Given the description of an element on the screen output the (x, y) to click on. 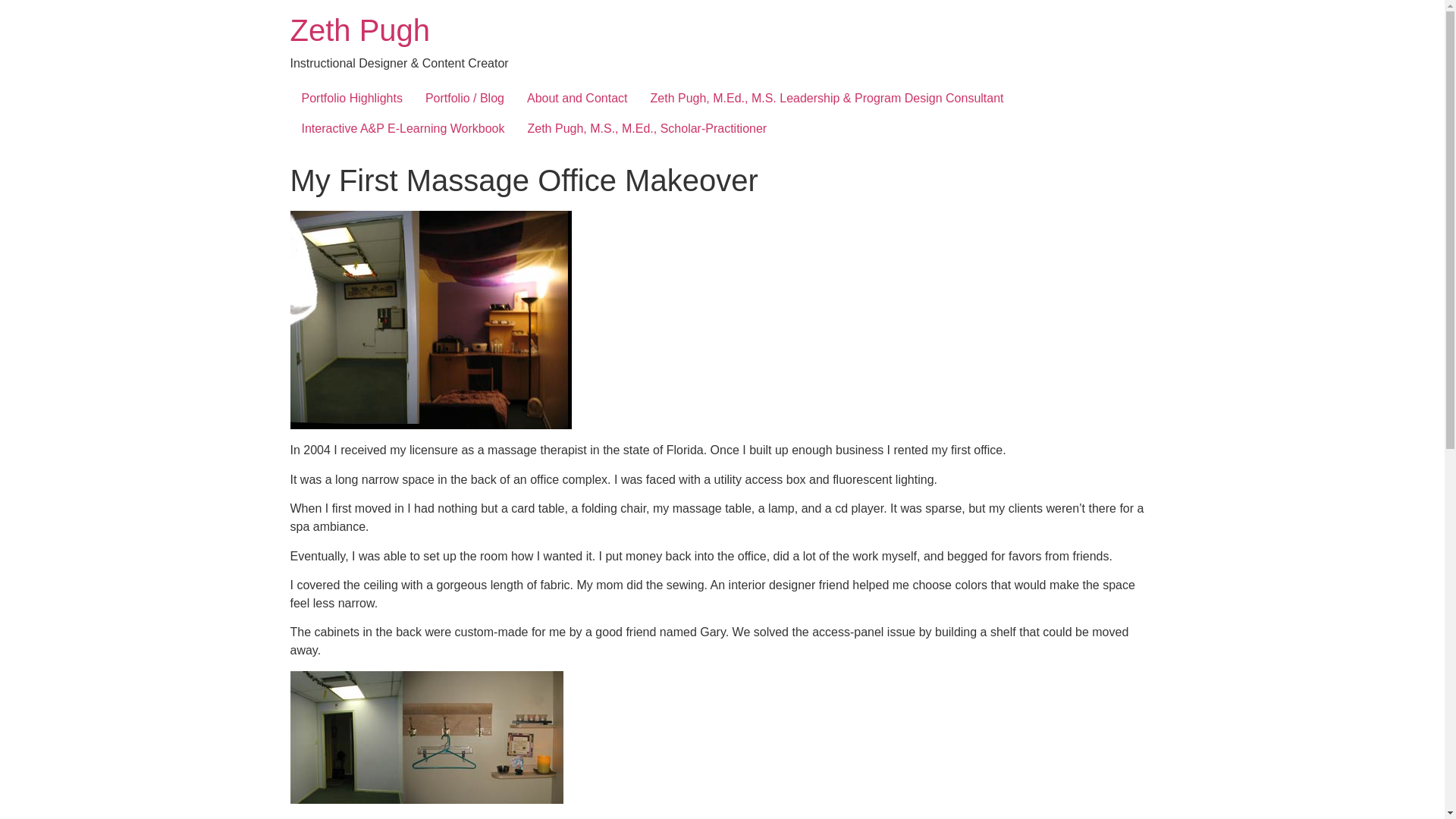
Zeth Pugh, M.S., M.Ed., Scholar-Practitioner (646, 128)
Zeth Pugh (359, 29)
Home (359, 29)
About and Contact (577, 98)
Portfolio Highlights (351, 98)
